Given the description of an element on the screen output the (x, y) to click on. 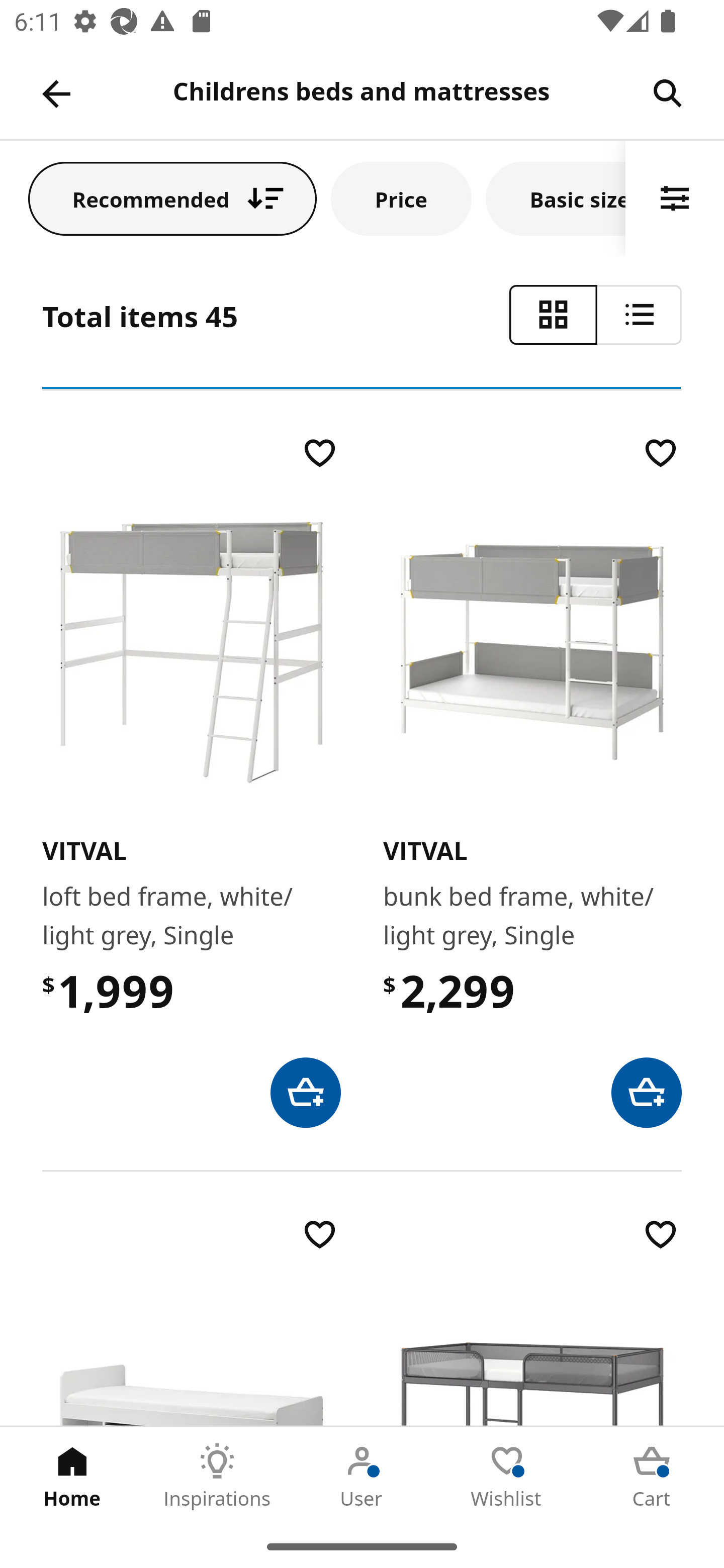
Recommended (172, 198)
Price (400, 198)
Basic sizes (555, 198)
Home
Tab 1 of 5 (72, 1476)
Inspirations
Tab 2 of 5 (216, 1476)
User
Tab 3 of 5 (361, 1476)
Wishlist
Tab 4 of 5 (506, 1476)
Cart
Tab 5 of 5 (651, 1476)
